Given the description of an element on the screen output the (x, y) to click on. 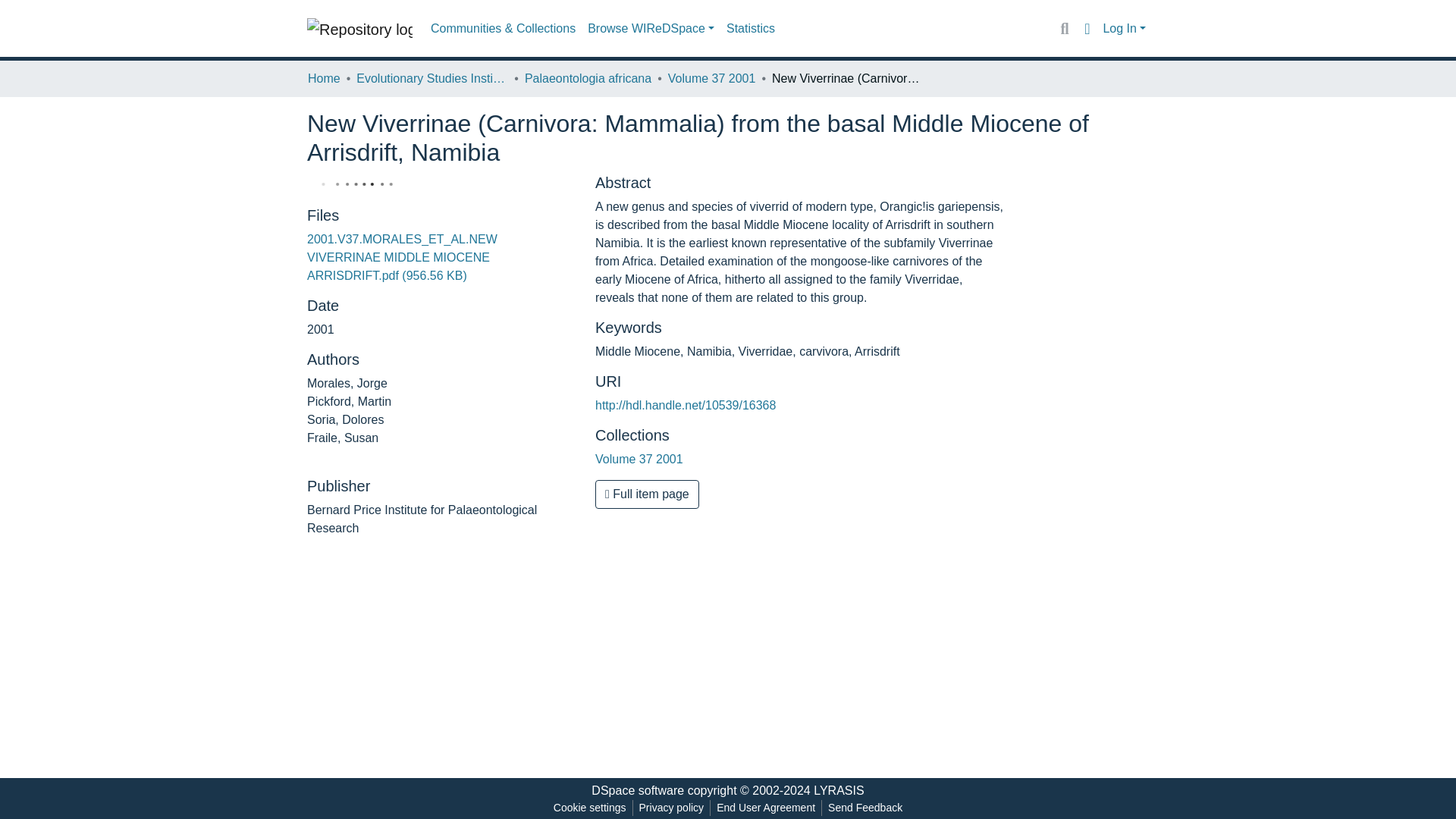
Browse WIReDSpace (650, 28)
Cookie settings (589, 807)
Privacy policy (671, 807)
Full item page (646, 493)
Log In (1123, 28)
Statistics (750, 28)
Send Feedback (865, 807)
Palaeontologia africana (587, 78)
Home (323, 78)
DSpace software (637, 789)
Volume 37 2001 (711, 78)
LYRASIS (838, 789)
Volume 37 2001 (638, 459)
Search (1064, 28)
Language switch (1086, 28)
